Given the description of an element on the screen output the (x, y) to click on. 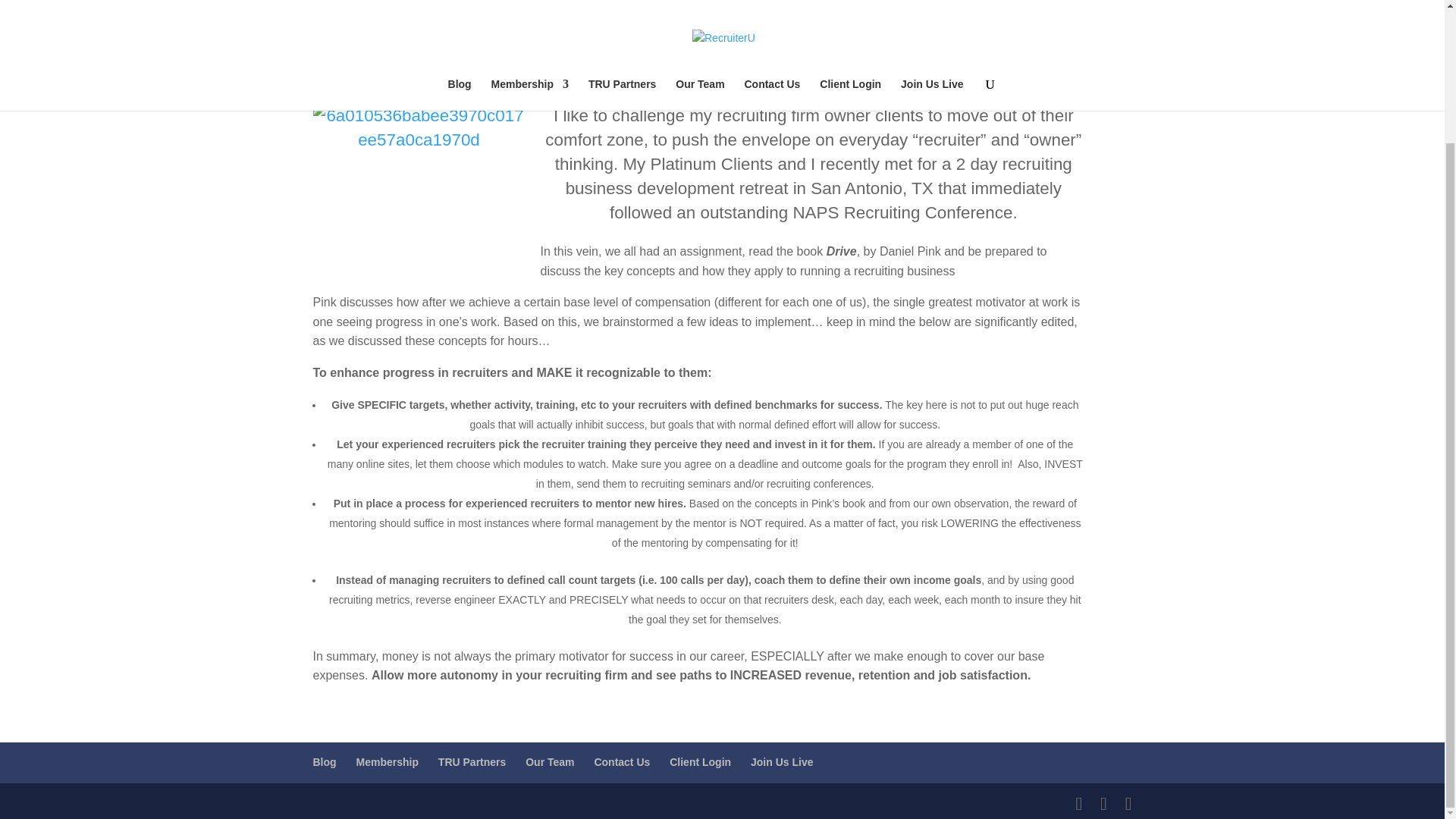
Client Fee Issues (785, 54)
Being the Leader In Your Firm (651, 54)
0 comments (875, 54)
